Given the description of an element on the screen output the (x, y) to click on. 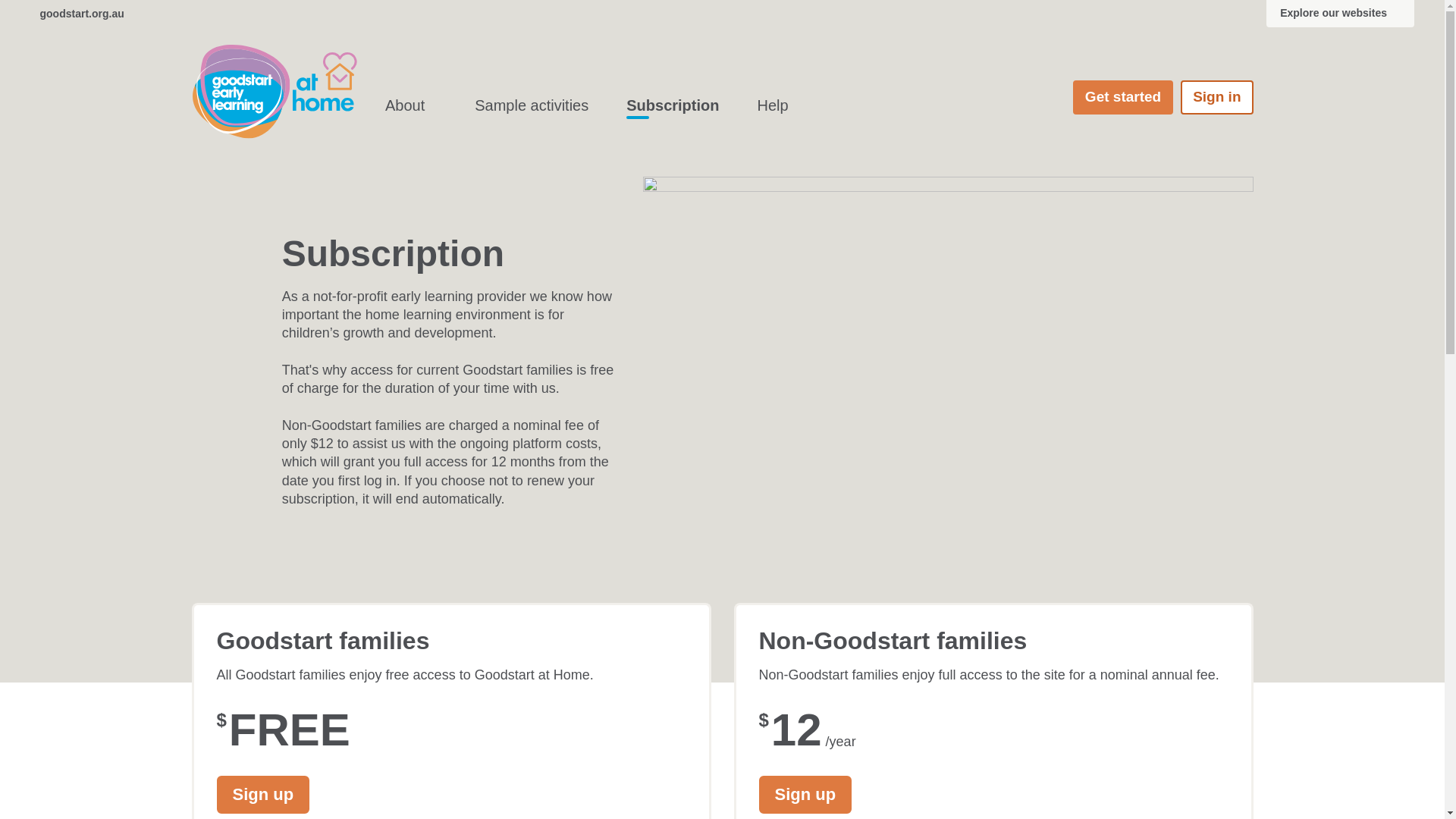
Explore our websites Element type: text (1340, 13)
Go to homepage Element type: text (273, 91)
Sign up Element type: text (804, 794)
Sign up Element type: text (263, 794)
Subscription Element type: text (672, 105)
Sign in Element type: text (1216, 97)
goodstart.org.au Element type: text (77, 13)
Sample activities Element type: text (531, 105)
Get started Element type: text (1123, 97)
About Element type: text (410, 105)
Help Element type: text (771, 105)
